Given the description of an element on the screen output the (x, y) to click on. 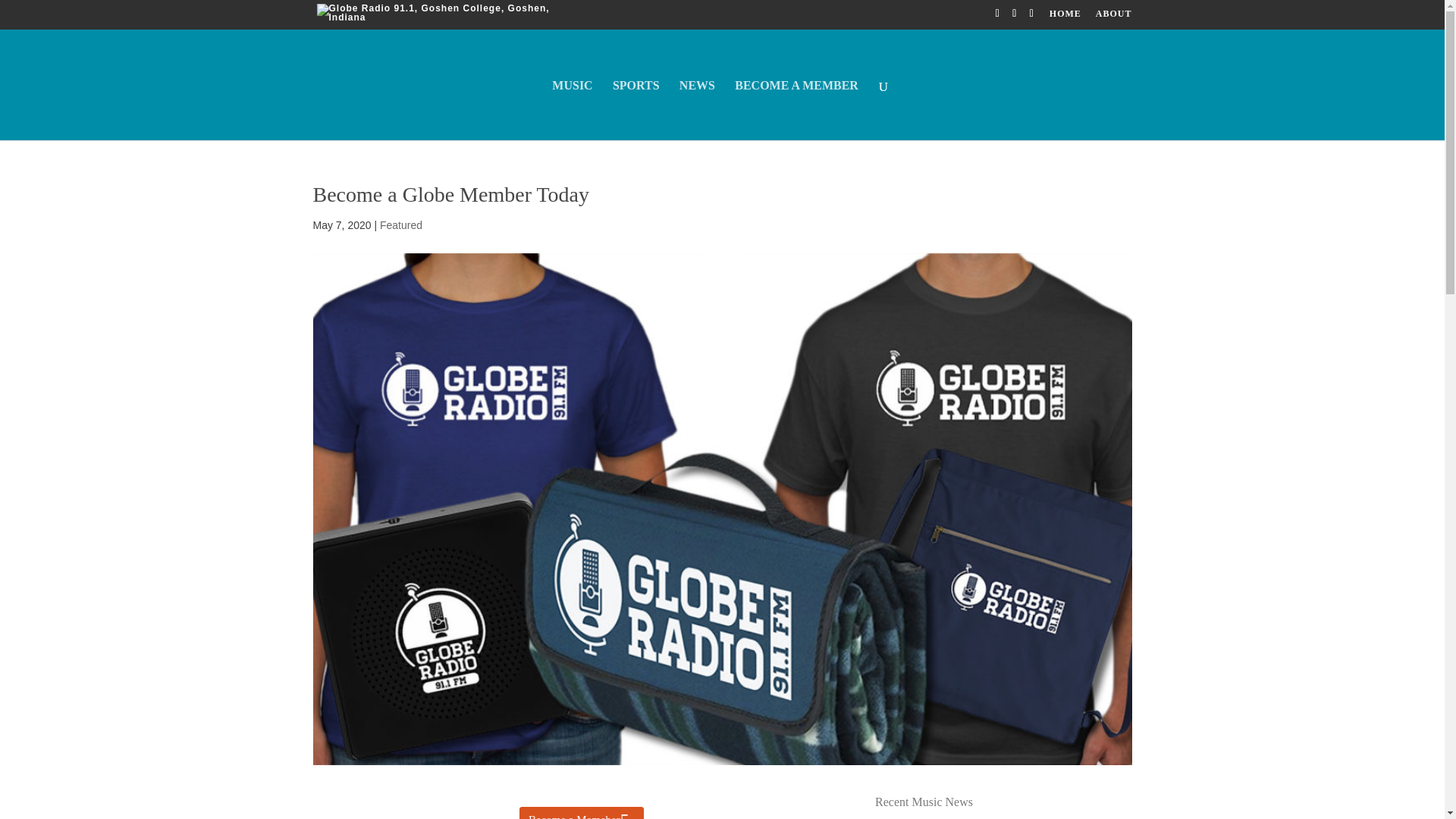
Become a Memeber (581, 812)
HOME (1065, 17)
BECOME A MEMBER (797, 110)
ABOUT (1114, 17)
Featured (401, 224)
